Given the description of an element on the screen output the (x, y) to click on. 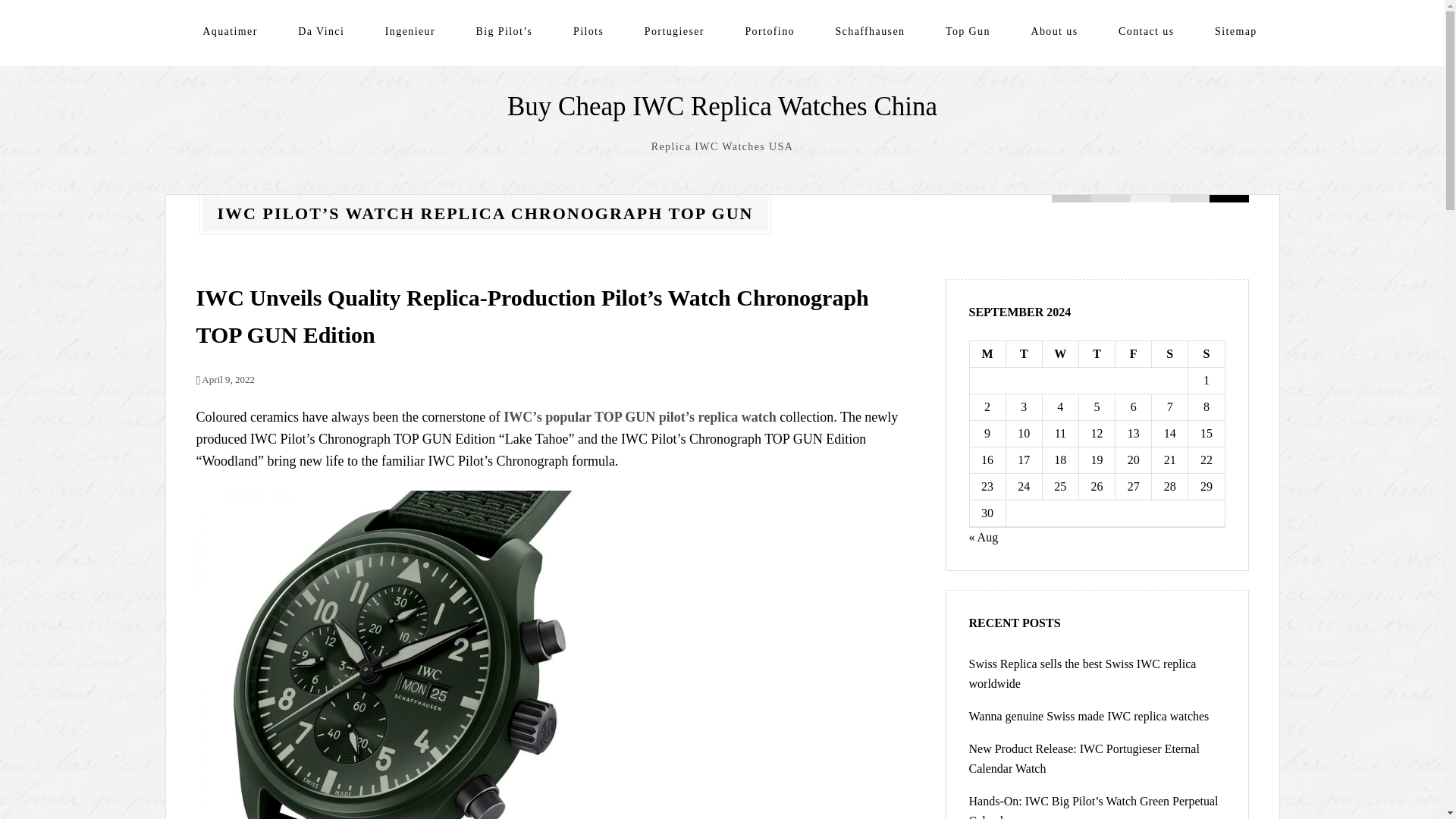
Schaffhausen (869, 31)
Buy Cheap IWC Replica Watches China (721, 106)
Aquatimer (229, 31)
Wanna genuine Swiss made IWC replica watches (1089, 716)
Monday (987, 354)
New Product Release: IWC Portugieser Eternal Calendar Watch (1084, 758)
Ingenieur (410, 31)
Da Vinci (320, 31)
Friday (1133, 354)
Tuesday (1024, 354)
